Given the description of an element on the screen output the (x, y) to click on. 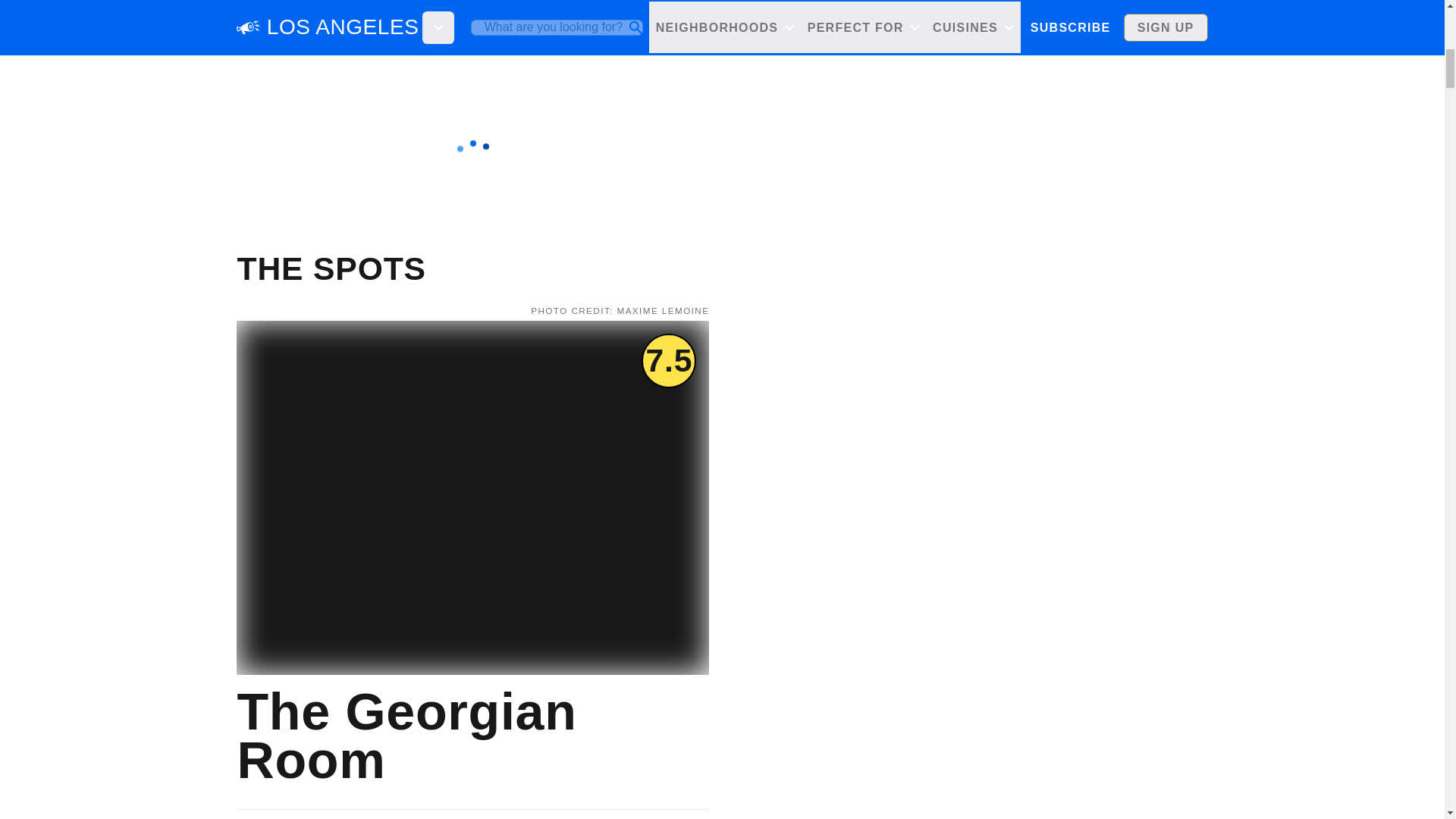
The Georgian Room (472, 735)
